Given the description of an element on the screen output the (x, y) to click on. 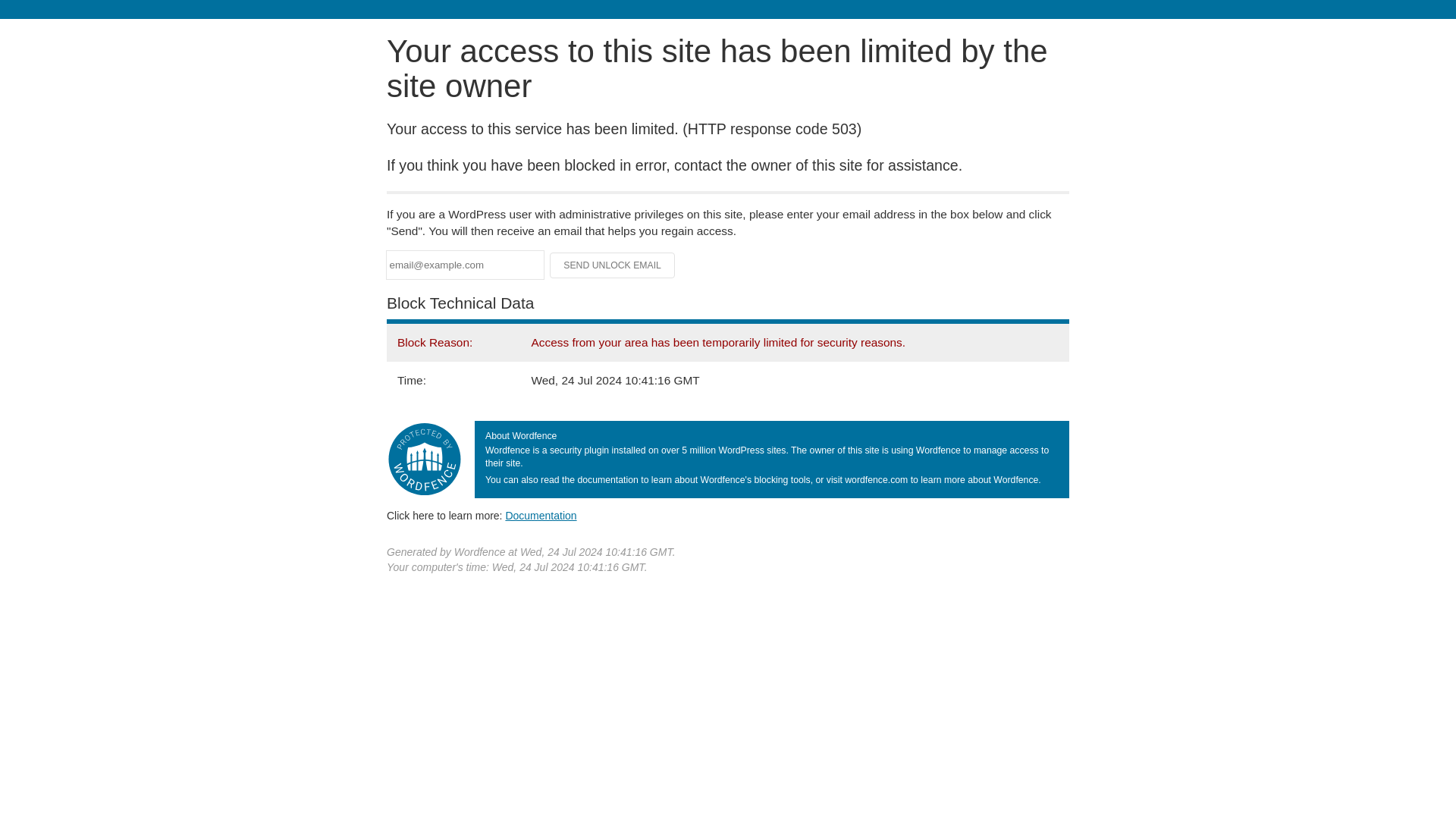
Documentation (540, 515)
Send Unlock Email (612, 265)
Send Unlock Email (612, 265)
